Given the description of an element on the screen output the (x, y) to click on. 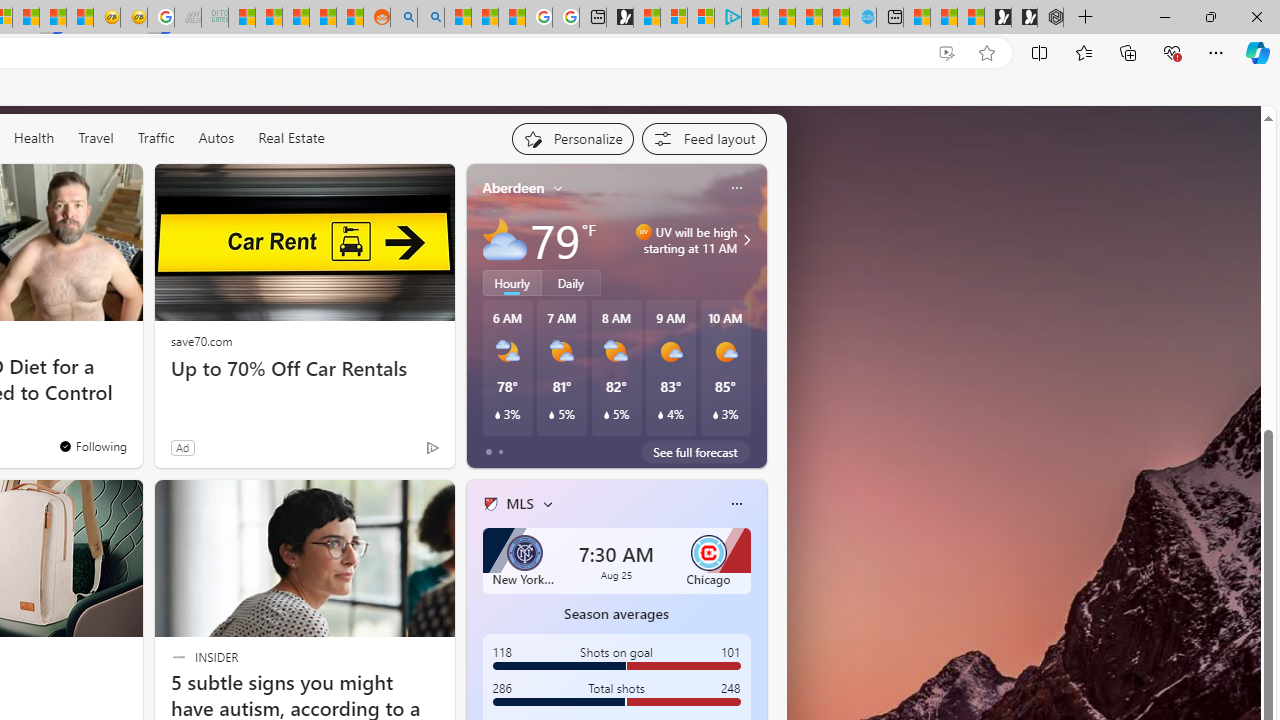
Student Loan Update: Forgiveness Program Ends This Month (322, 17)
Class: weather-current-precipitation-glyph (715, 415)
save70.com (201, 340)
UV will be high starting at 11 AM (744, 240)
